Given the description of an element on the screen output the (x, y) to click on. 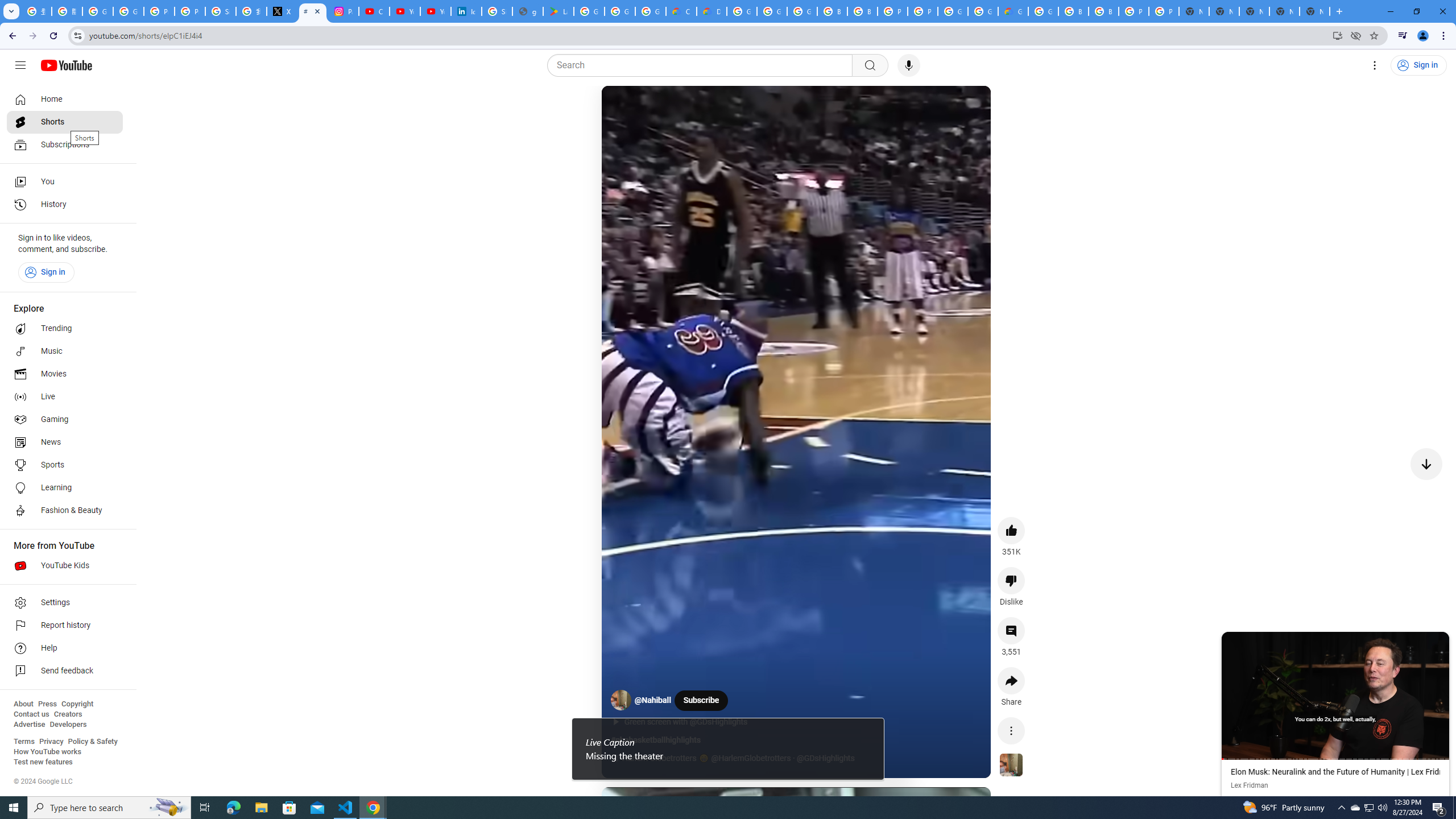
#nbabasketballhighlights - YouTube - Audio playing (312, 11)
Settings (1374, 65)
Google Cloud Platform (741, 11)
History (64, 204)
Search (703, 65)
Report history (64, 625)
View 3,551 comments (1011, 630)
Google Cloud Estimate Summary (1012, 11)
Share (1011, 680)
Trending (64, 328)
